Given the description of an element on the screen output the (x, y) to click on. 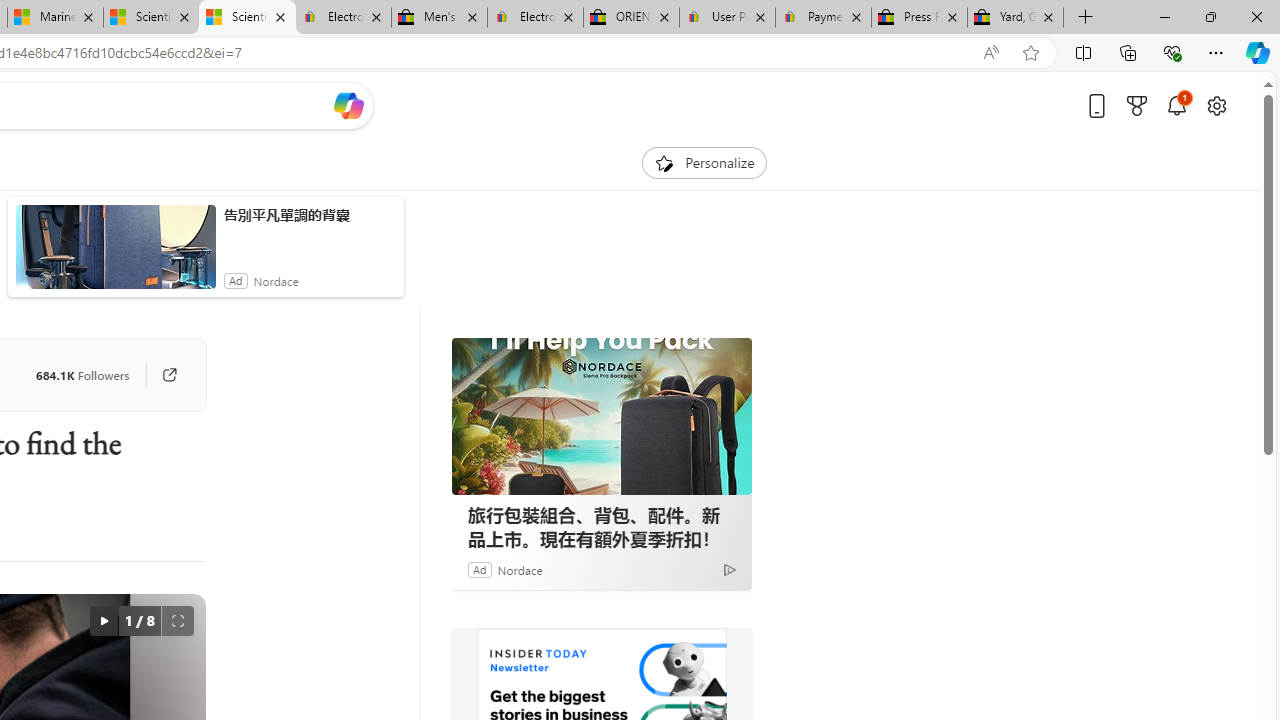
Visit Business Insider website (726, 655)
Go to publisher's site (169, 374)
